Given the description of an element on the screen output the (x, y) to click on. 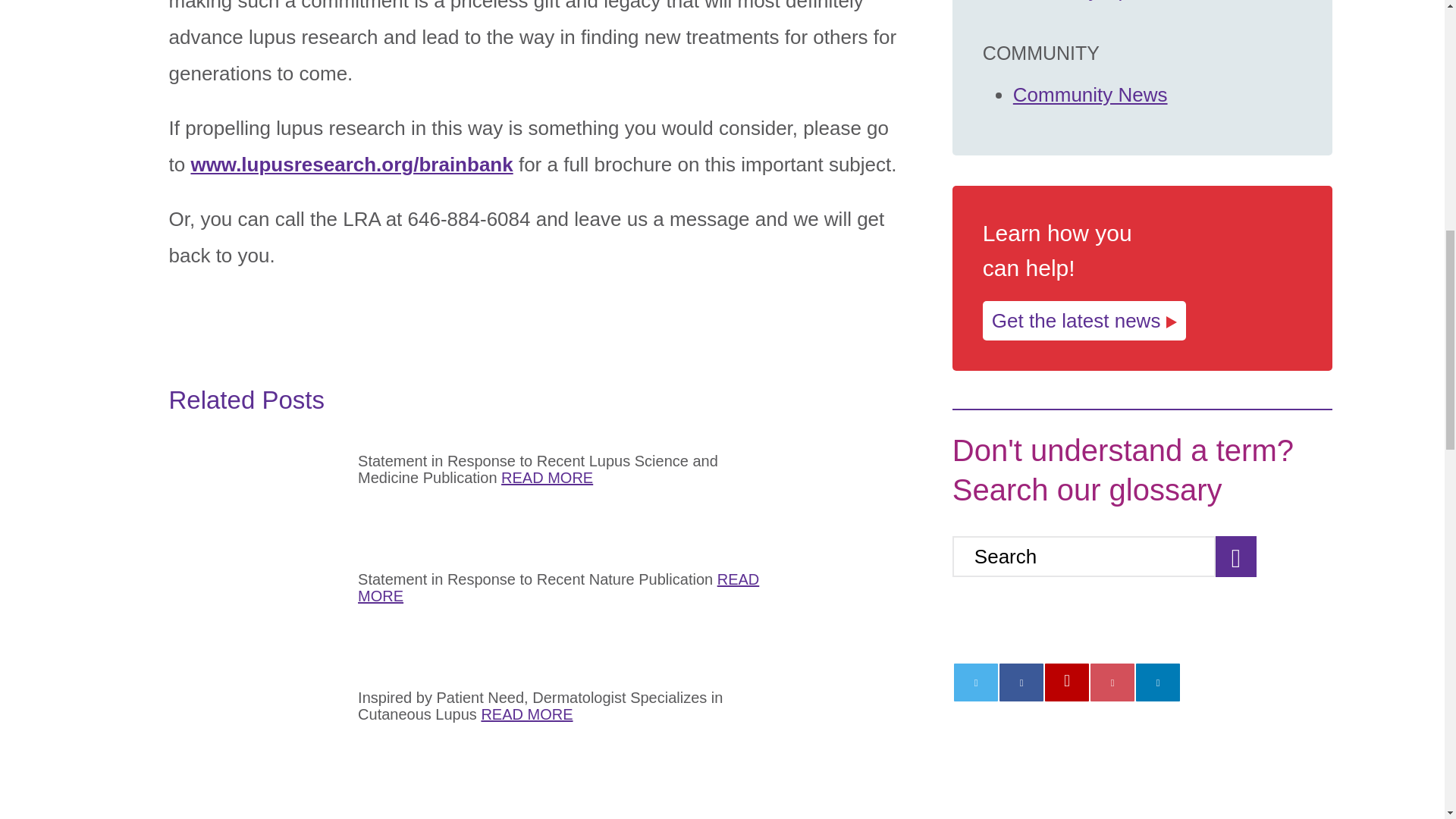
Save to read later on Pocket (1112, 682)
Share on Linkedin (1157, 682)
Share on Facebook (1020, 682)
Tweet on Twitter (975, 682)
